Given the description of an element on the screen output the (x, y) to click on. 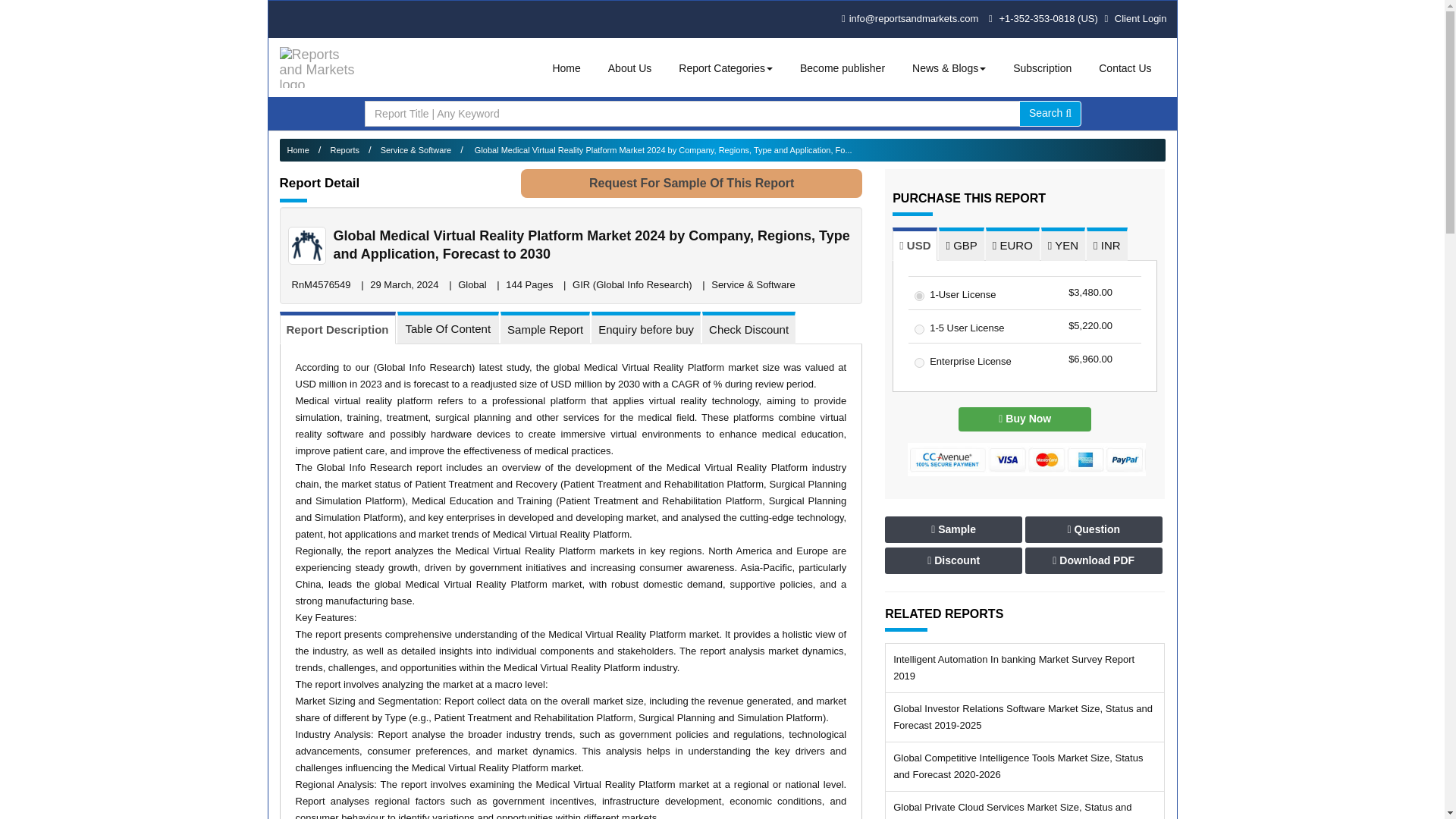
Become publisher (842, 67)
Request for FREE Sample of this report (691, 183)
Report Categories (725, 67)
Home (566, 67)
Client Login (1134, 18)
About Us (630, 67)
